Given the description of an element on the screen output the (x, y) to click on. 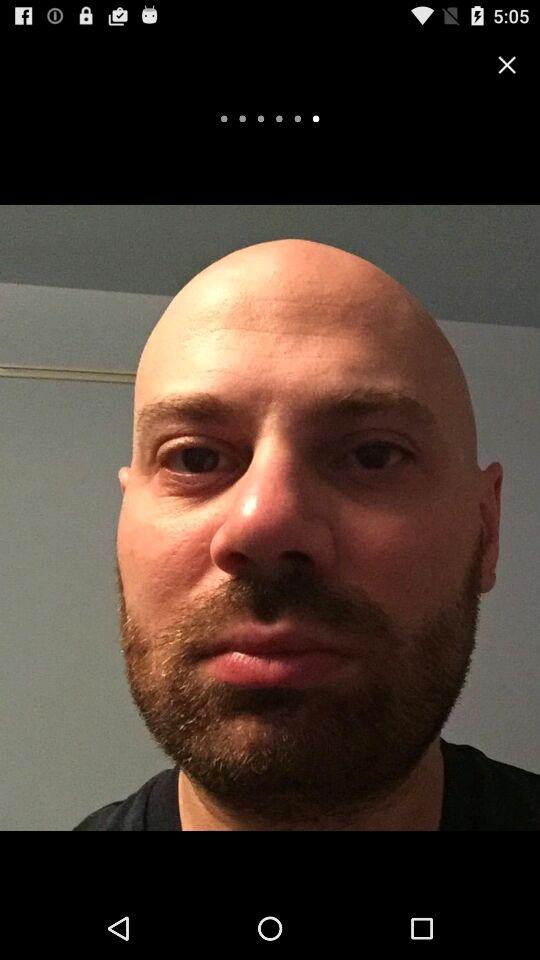
close page (507, 64)
